Given the description of an element on the screen output the (x, y) to click on. 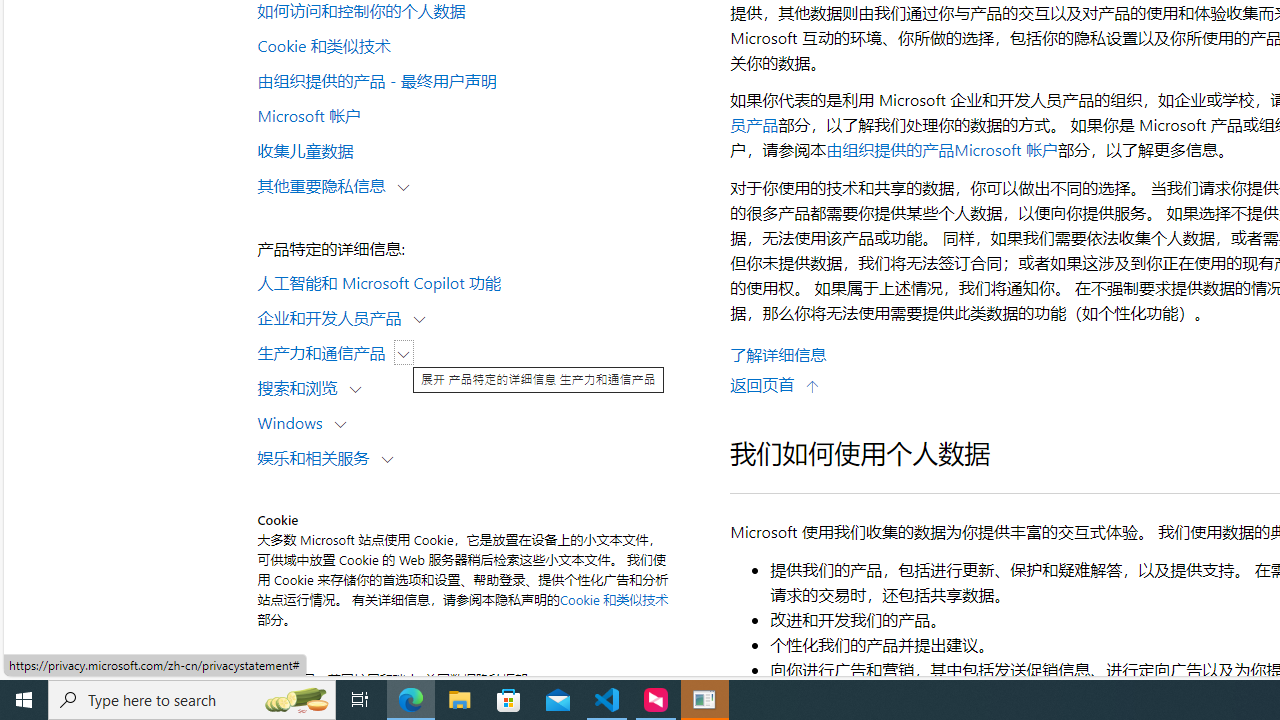
Windows (294, 421)
